Given the description of an element on the screen output the (x, y) to click on. 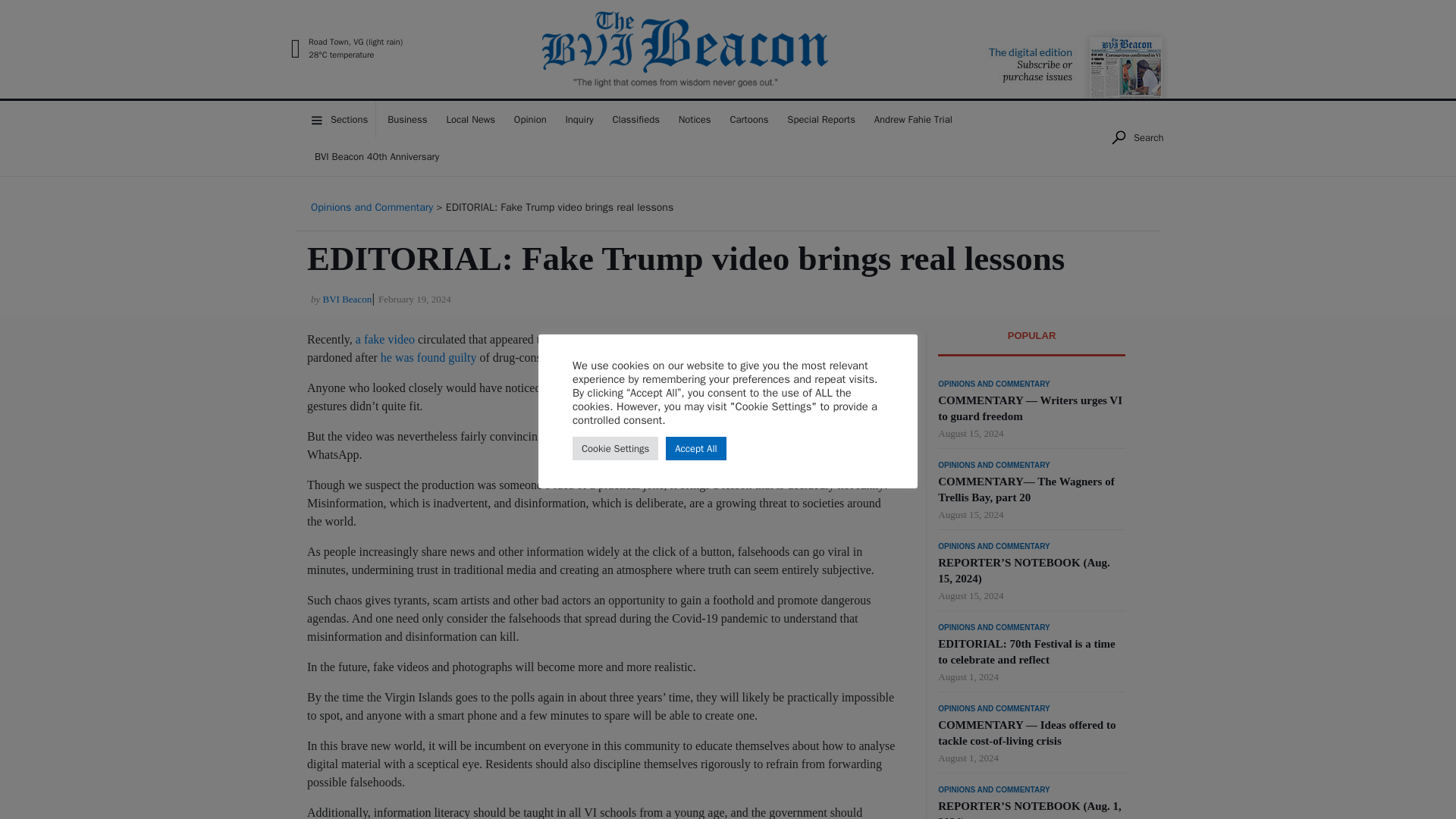
Notices (695, 119)
Business (406, 119)
Classifieds (635, 119)
OPINIONS AND COMMENTARY (993, 465)
he was found guilty (428, 357)
OPINIONS AND COMMENTARY (993, 384)
Inquiry (578, 119)
Andrew Fahie Trial (912, 119)
BVI Beacon 40th Anniversary (376, 157)
Local News (470, 119)
